Given the description of an element on the screen output the (x, y) to click on. 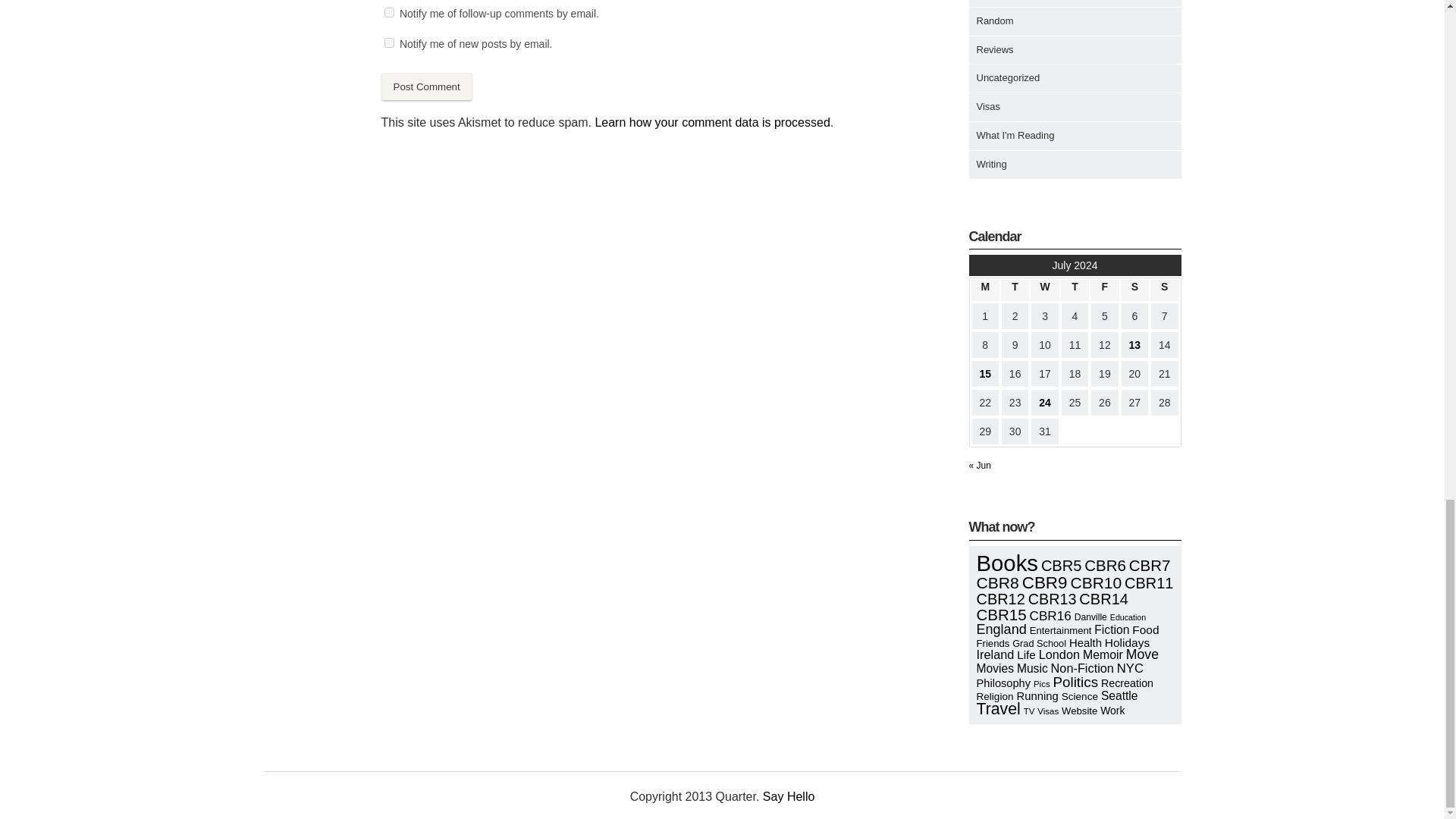
Friday (1104, 290)
Thursday (1075, 290)
Tuesday (1015, 290)
subscribe (389, 12)
Saturday (1134, 290)
subscribe (389, 42)
Wednesday (1044, 290)
Sunday (1163, 290)
Monday (984, 290)
Post Comment (426, 86)
